Given the description of an element on the screen output the (x, y) to click on. 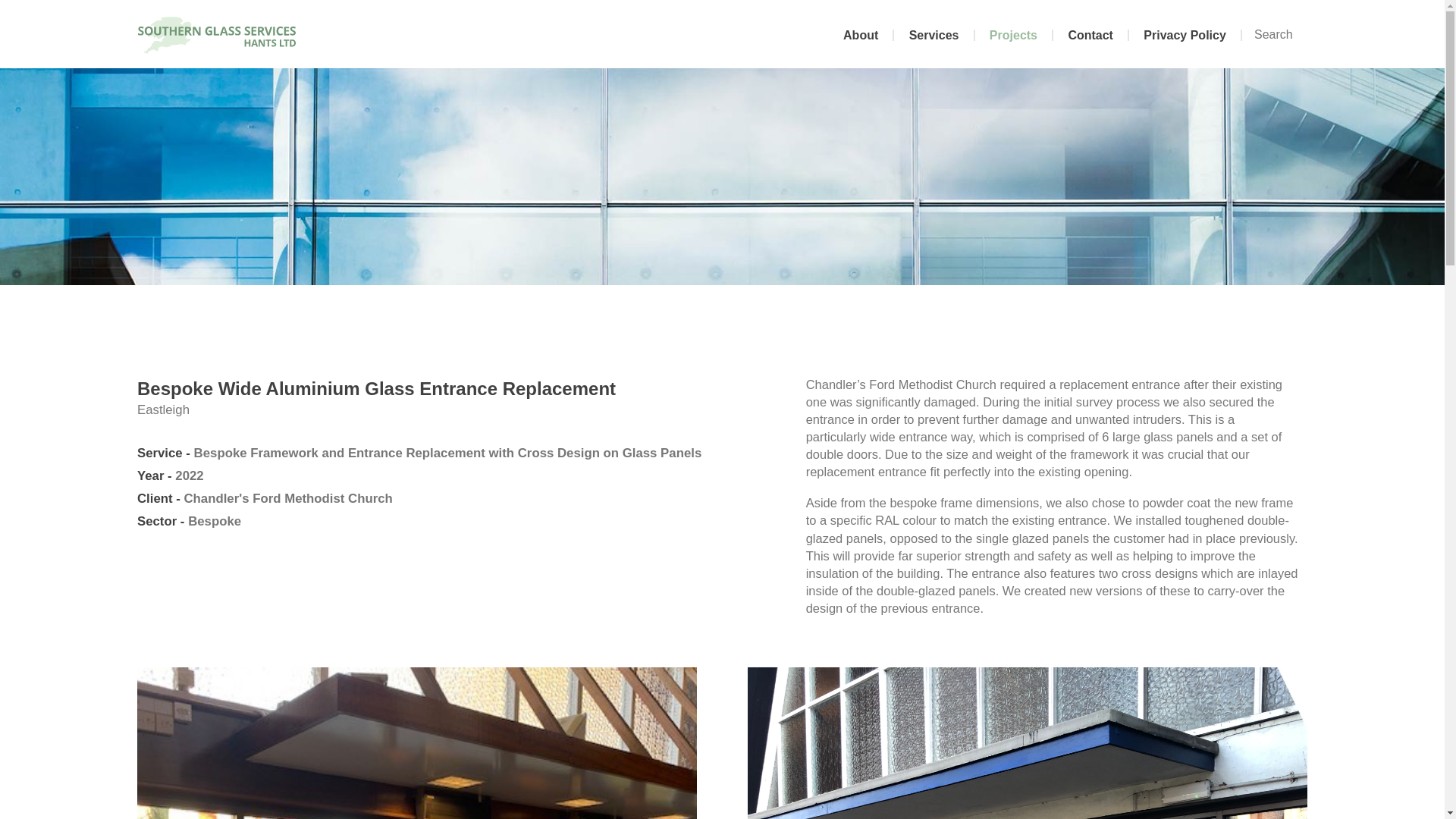
Privacy Policy (1185, 34)
Projects (1014, 34)
About (861, 34)
Services (933, 34)
Contact (1090, 34)
